Given the description of an element on the screen output the (x, y) to click on. 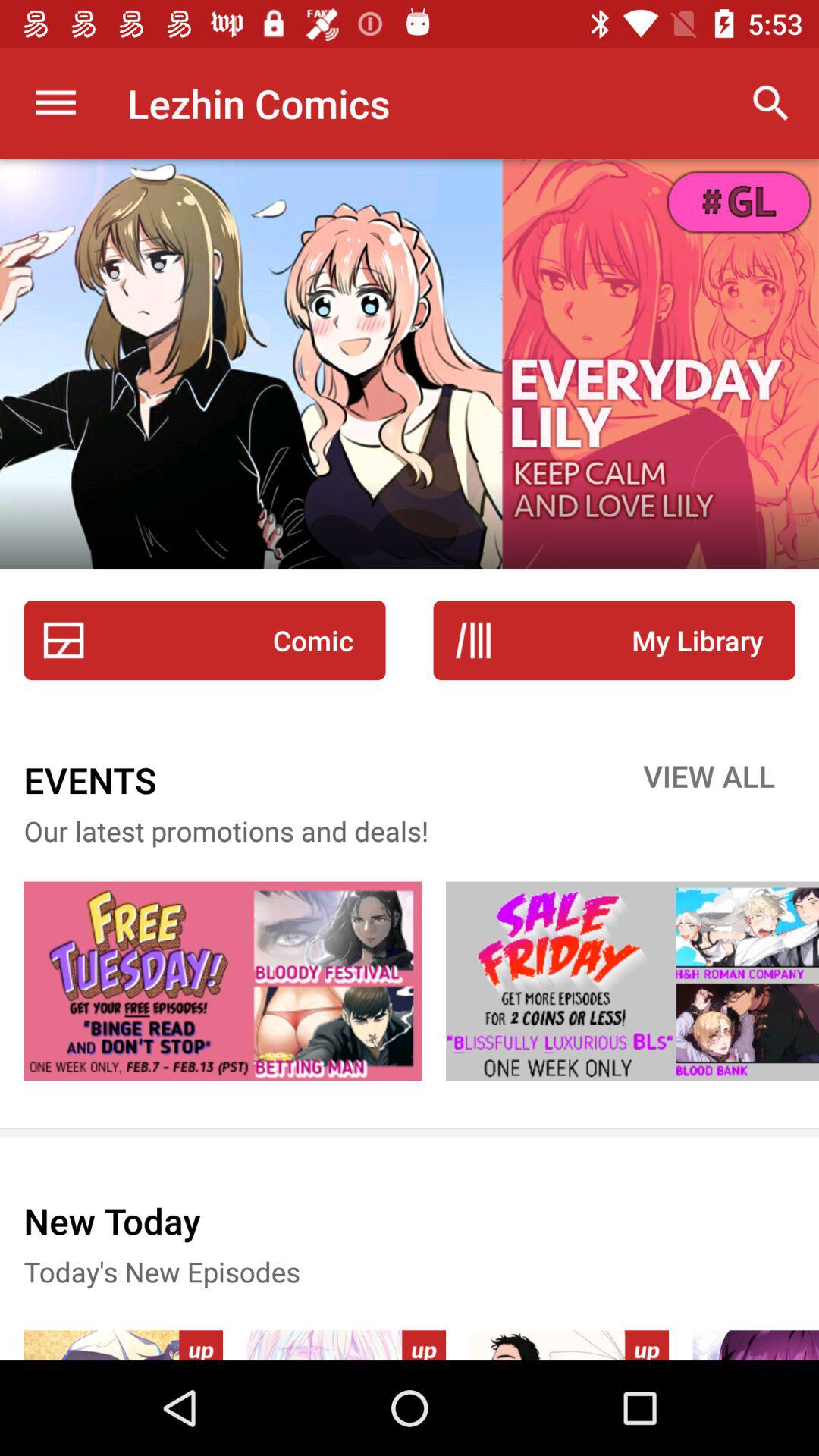
launch advertisement (222, 980)
